Given the description of an element on the screen output the (x, y) to click on. 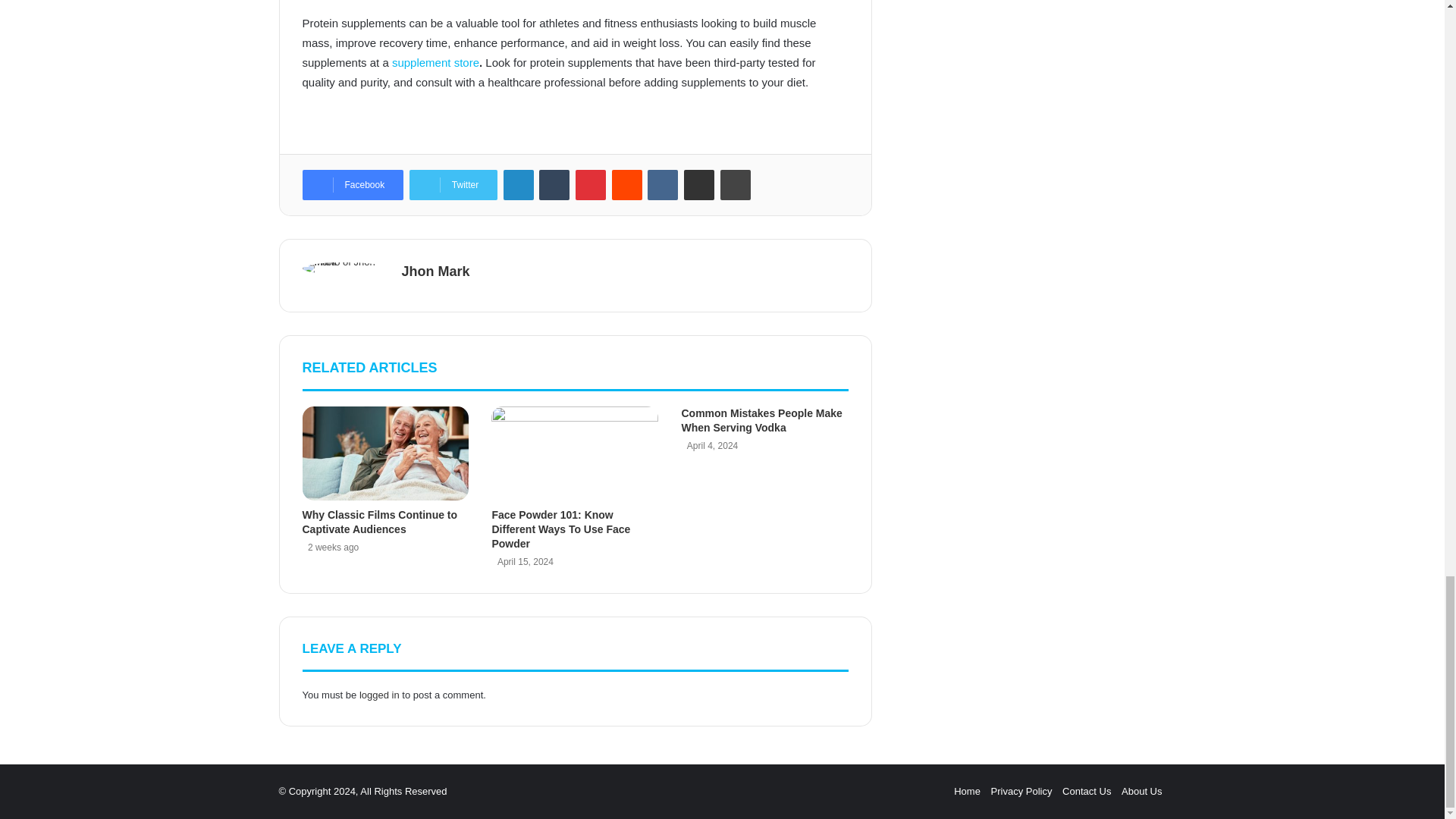
Twitter (453, 184)
Print (735, 184)
Tumblr (553, 184)
Facebook (352, 184)
Common Mistakes People Make When Serving Vodka (761, 420)
Twitter (453, 184)
Pinterest (590, 184)
LinkedIn (518, 184)
Print (735, 184)
Share via Email (699, 184)
